Given the description of an element on the screen output the (x, y) to click on. 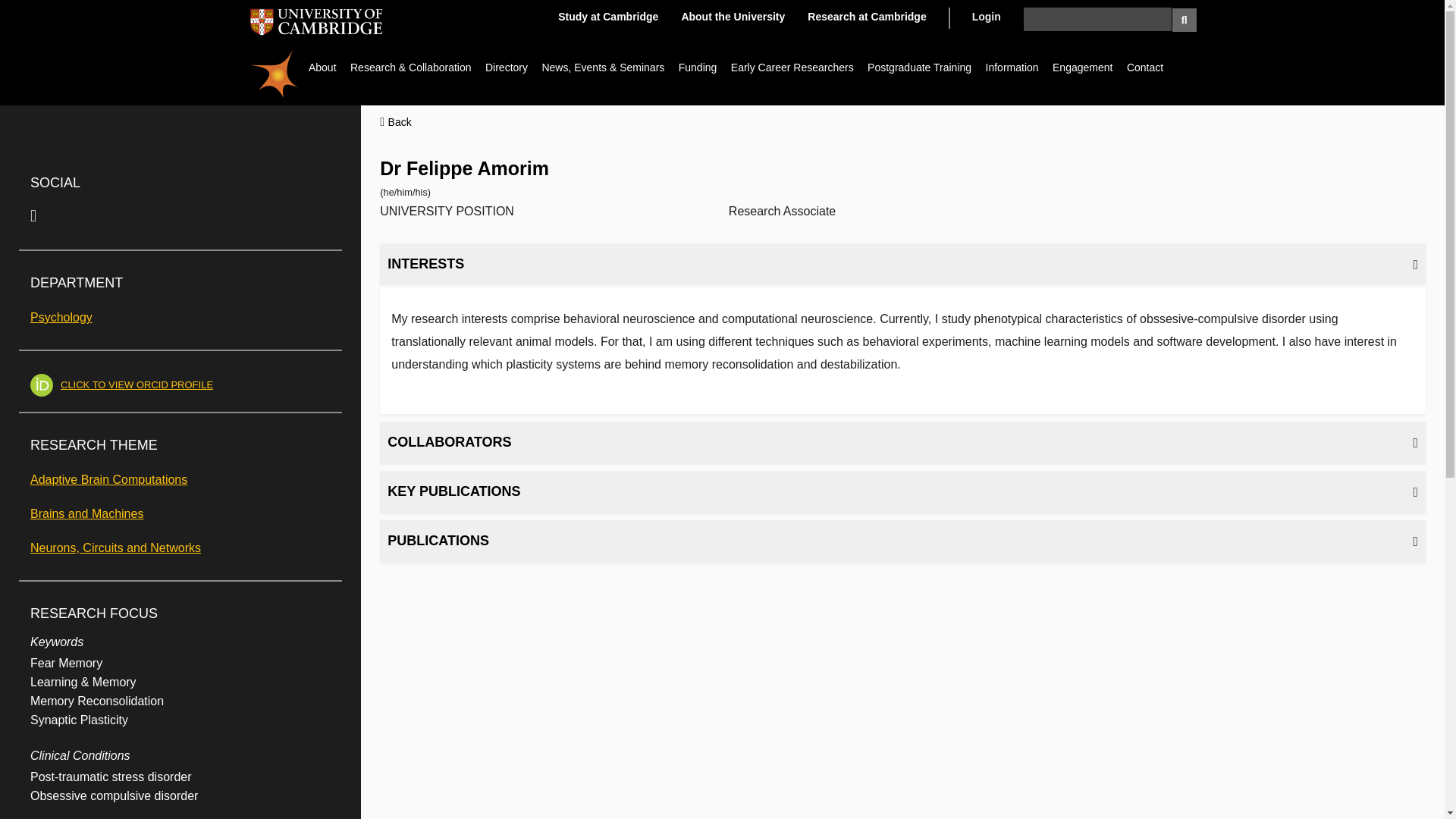
Cambridge Neuroscience (273, 73)
Cambridge Neuroscience (273, 73)
Login (986, 17)
Study at Cambridge (607, 17)
Research at Cambridge (867, 17)
About the University (732, 17)
Directory (506, 67)
About (322, 67)
